Given the description of an element on the screen output the (x, y) to click on. 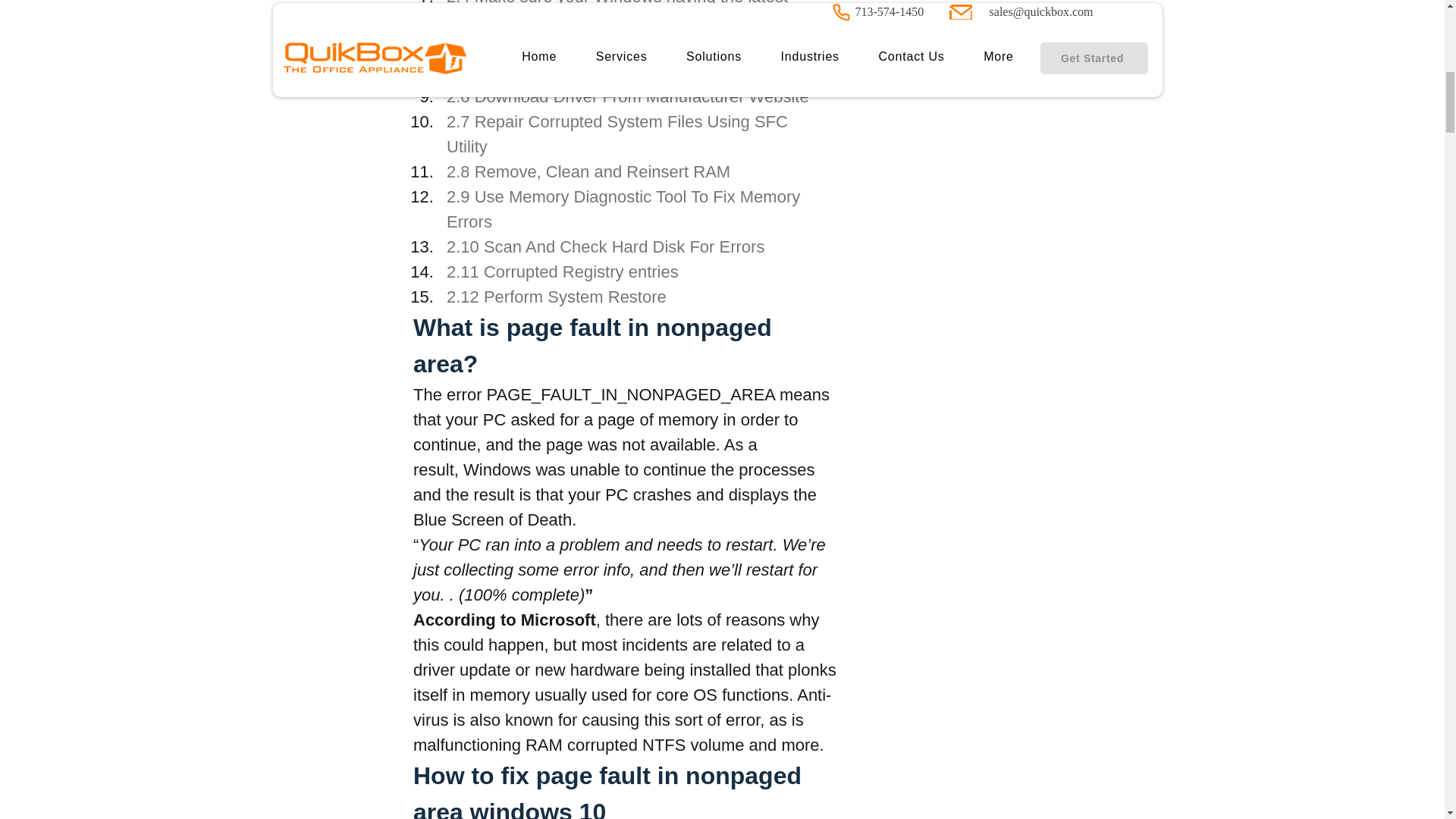
2.12 Perform System Restore (555, 296)
2.8 Remove, Clean and Reinsert RAM (587, 171)
2.9 Use Memory Diagnostic Tool To Fix Memory Errors (624, 208)
2.6 Download Driver From Manufacturer Website (626, 96)
2.11 Corrupted Registry entries (561, 271)
2.4 Make sure your Windows having the latest updates (618, 15)
2.10 Scan And Check Hard Disk For Errors (603, 246)
2.7 Repair Corrupted System Files Using SFC Utility (618, 134)
